Given the description of an element on the screen output the (x, y) to click on. 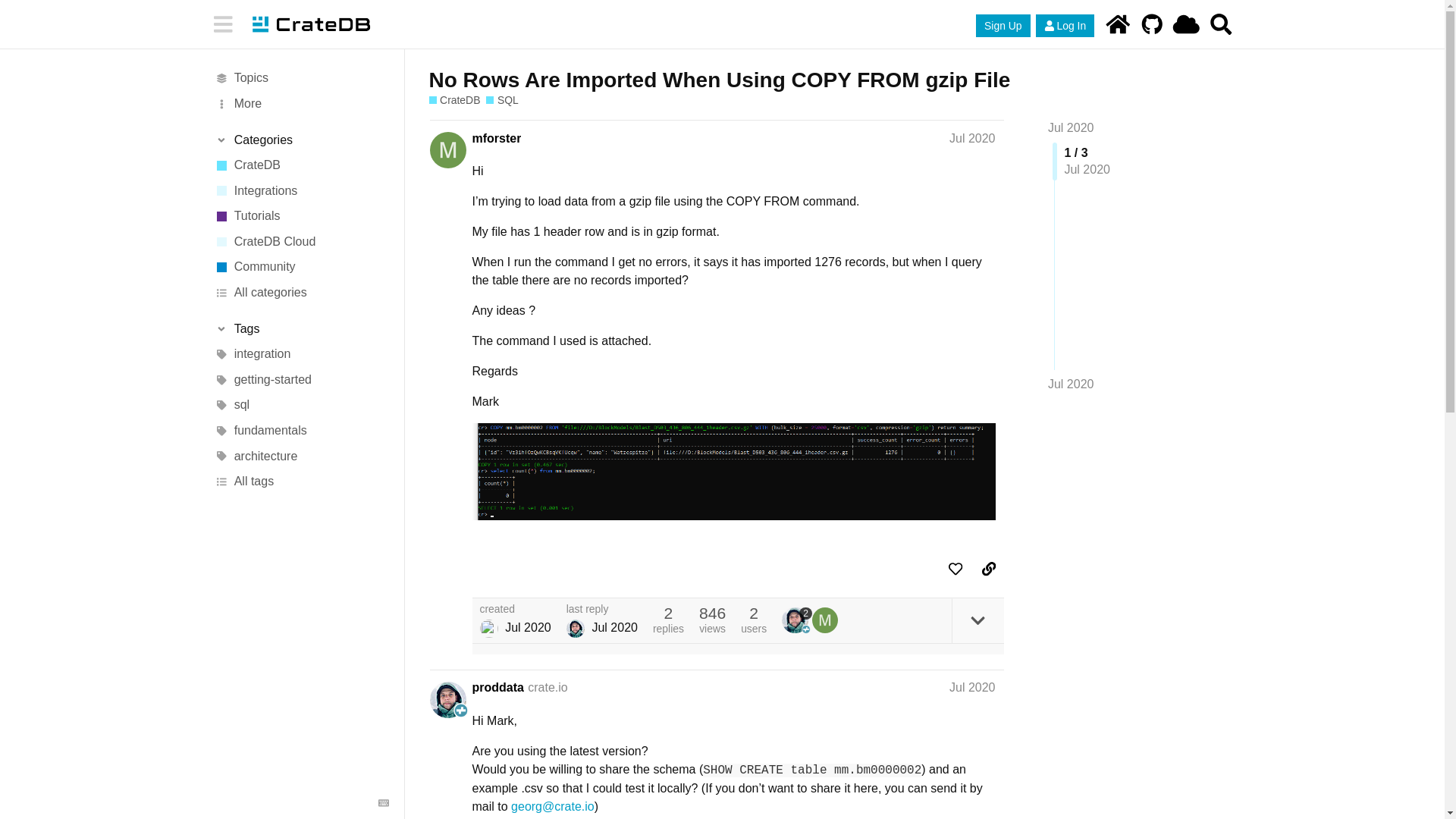
All categories (301, 292)
CrateDB Cloud (1186, 23)
CrateDB (1117, 23)
CrateDB (1117, 23)
Toggle section (301, 329)
All topics (301, 78)
CrateDB Cloud (301, 241)
Tags (301, 329)
sql (301, 405)
Toggle section (301, 139)
Integrations (301, 190)
integration (301, 354)
Topics (301, 78)
CrateDB (454, 100)
Github (1152, 23)
